Given the description of an element on the screen output the (x, y) to click on. 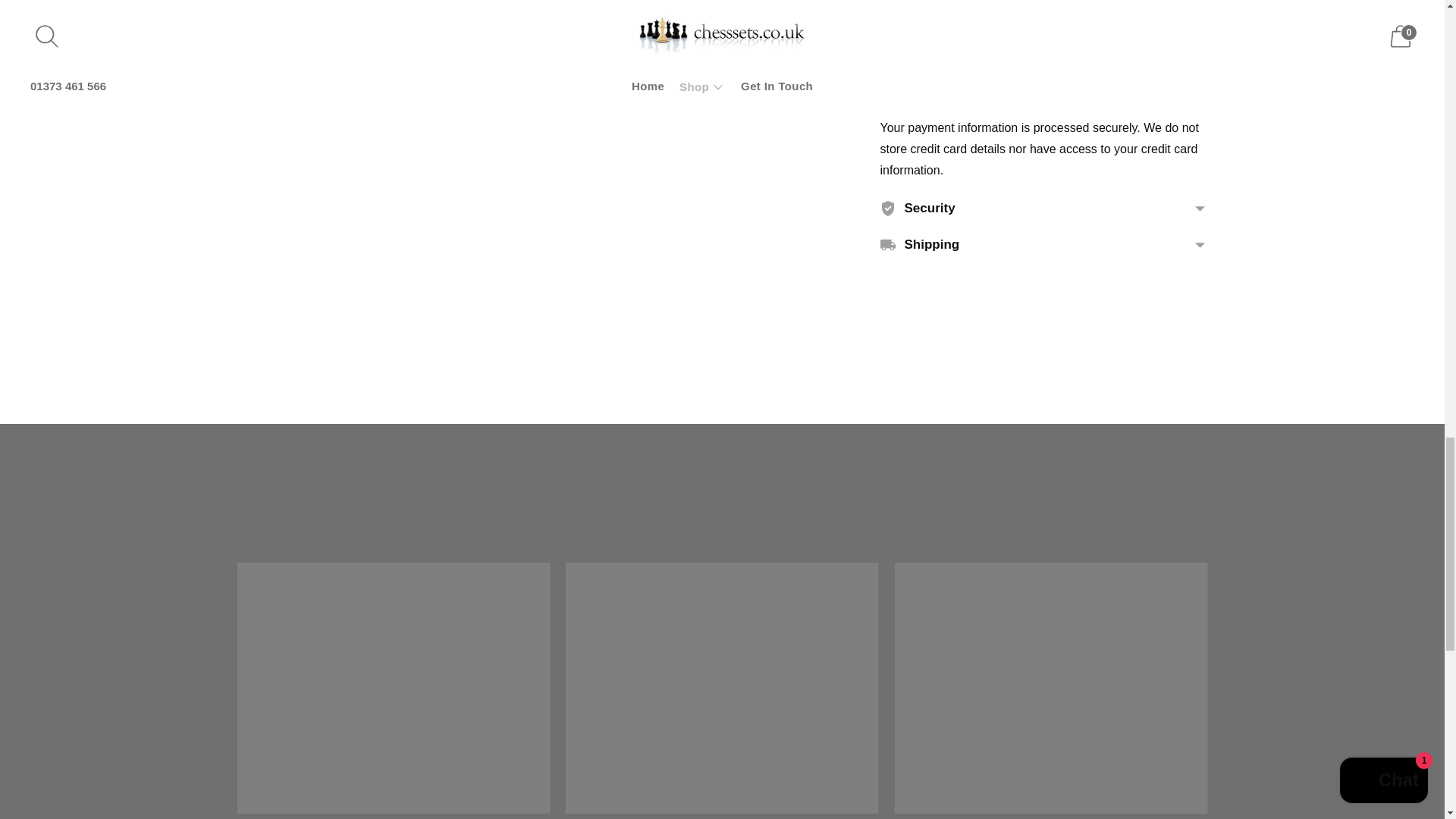
Shop Pay (1147, 48)
Discover (989, 48)
Diners Club (957, 48)
American Express (893, 48)
Visa (893, 75)
Google Pay (1020, 48)
Maestro (1052, 48)
Apple Pay (925, 48)
Mastercard (1083, 48)
Union Pay (1179, 48)
PayPal (1115, 48)
